Given the description of an element on the screen output the (x, y) to click on. 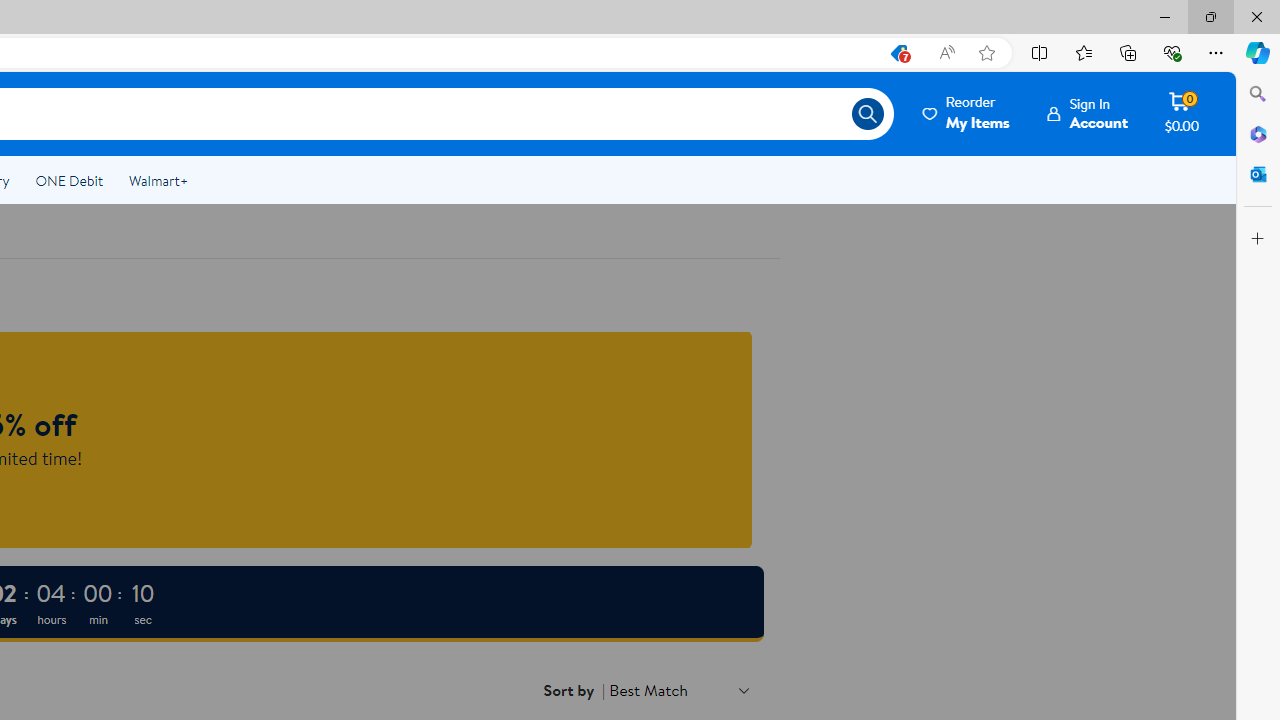
Reorder My Items (967, 113)
Cart contains 0 items Total Amount $0.00 (1182, 113)
Search icon (867, 113)
ONE Debit (68, 180)
Sign In Account (1088, 113)
ONE Debit (68, 180)
Class: ld ld-ChevronDown pa0 ml6 (744, 690)
